Given the description of an element on the screen output the (x, y) to click on. 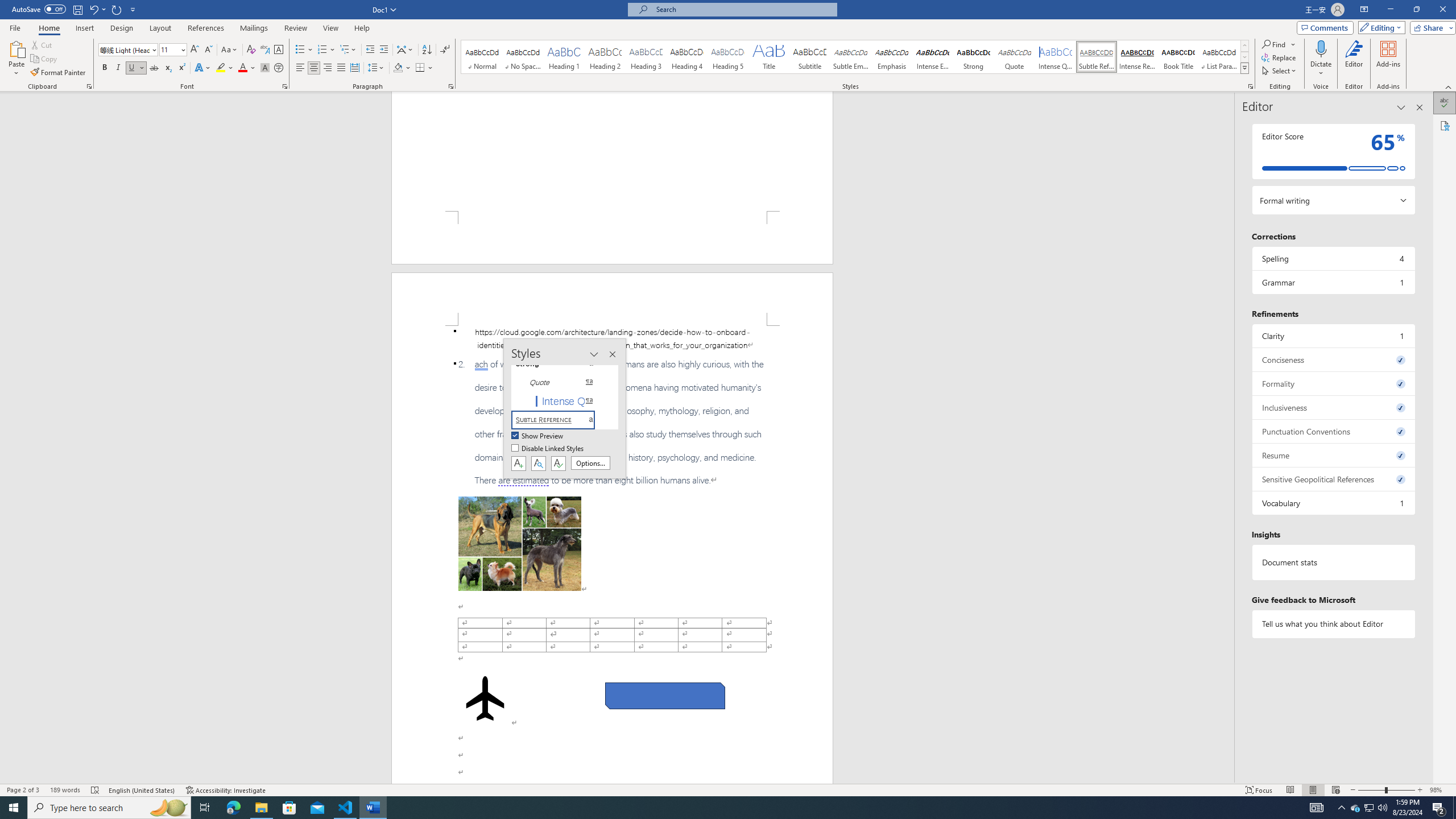
Undo Paragraph Alignment (96, 9)
Text Highlight Color (224, 67)
Intense Emphasis (932, 56)
Editor (1444, 102)
Copy (45, 58)
Row up (1244, 45)
Strong (973, 56)
Footer -Section 1- (611, 237)
Layout (160, 28)
Subtitle (809, 56)
Insert (83, 28)
